Given the description of an element on the screen output the (x, y) to click on. 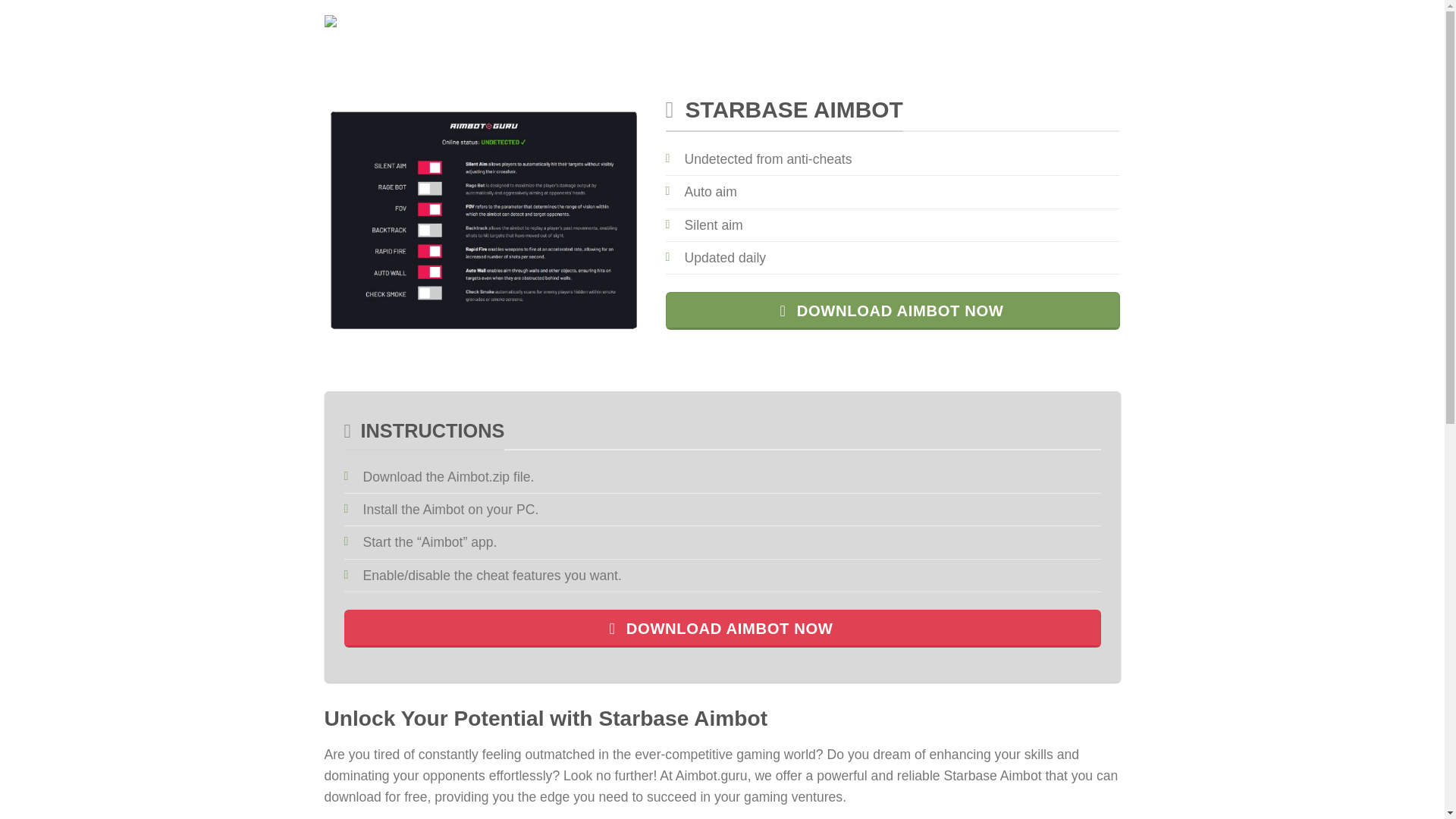
AIMBOTS (546, 25)
Aimbot Guru - Undetected aimbots for games (400, 25)
DOWNLOAD AIMBOT NOW (893, 310)
DOWNLOAD AIMBOT NOW (721, 628)
